Given the description of an element on the screen output the (x, y) to click on. 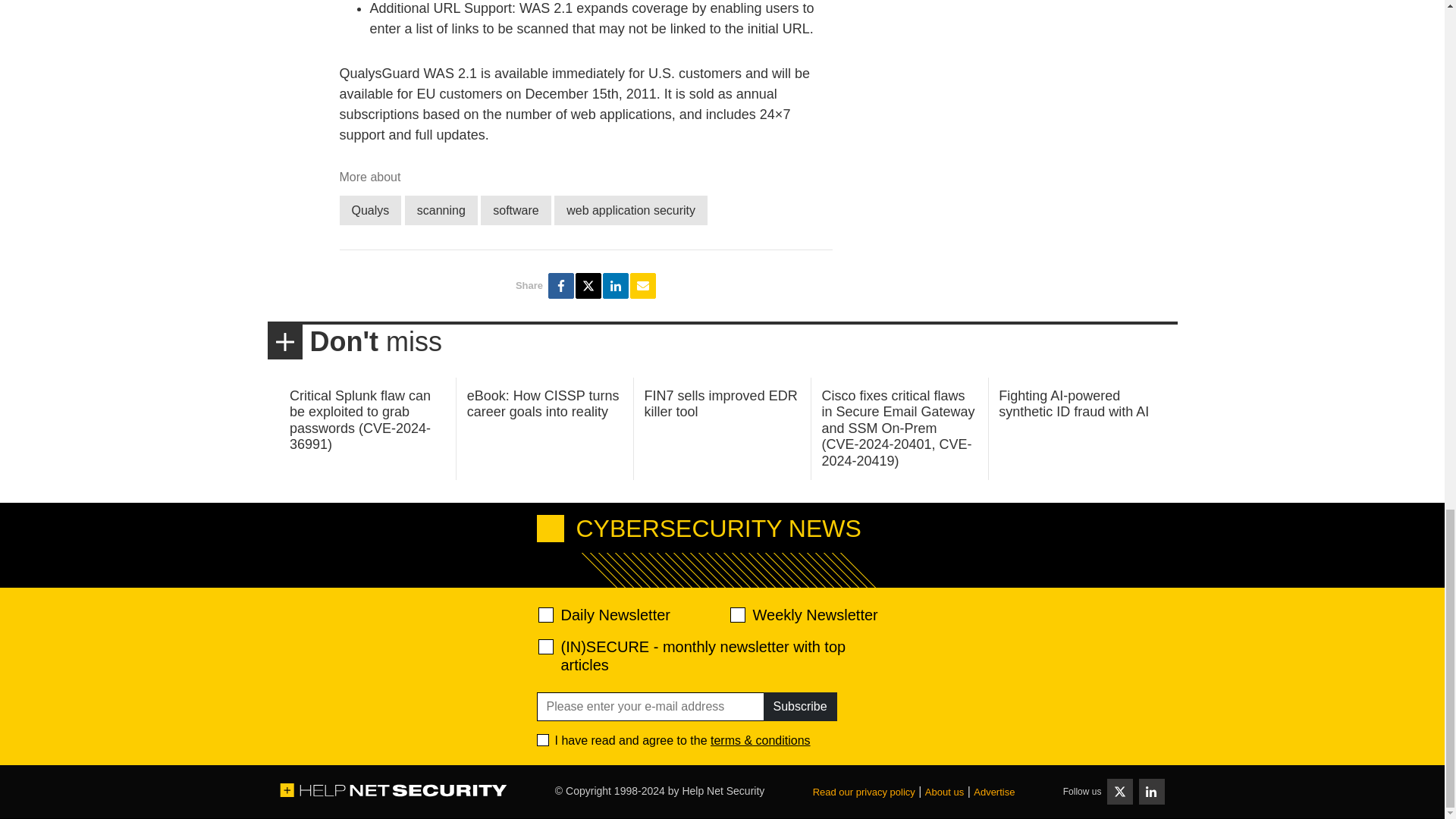
eBook: How CISSP turns career goals into reality (543, 404)
Qualys (370, 210)
software (515, 210)
520ac2f639 (545, 614)
software (515, 210)
scanning (440, 210)
Qualys (370, 210)
28abe5d9ef (545, 646)
1 (542, 739)
d2d471aafa (736, 614)
web application security (630, 210)
scanning (440, 210)
